Given the description of an element on the screen output the (x, y) to click on. 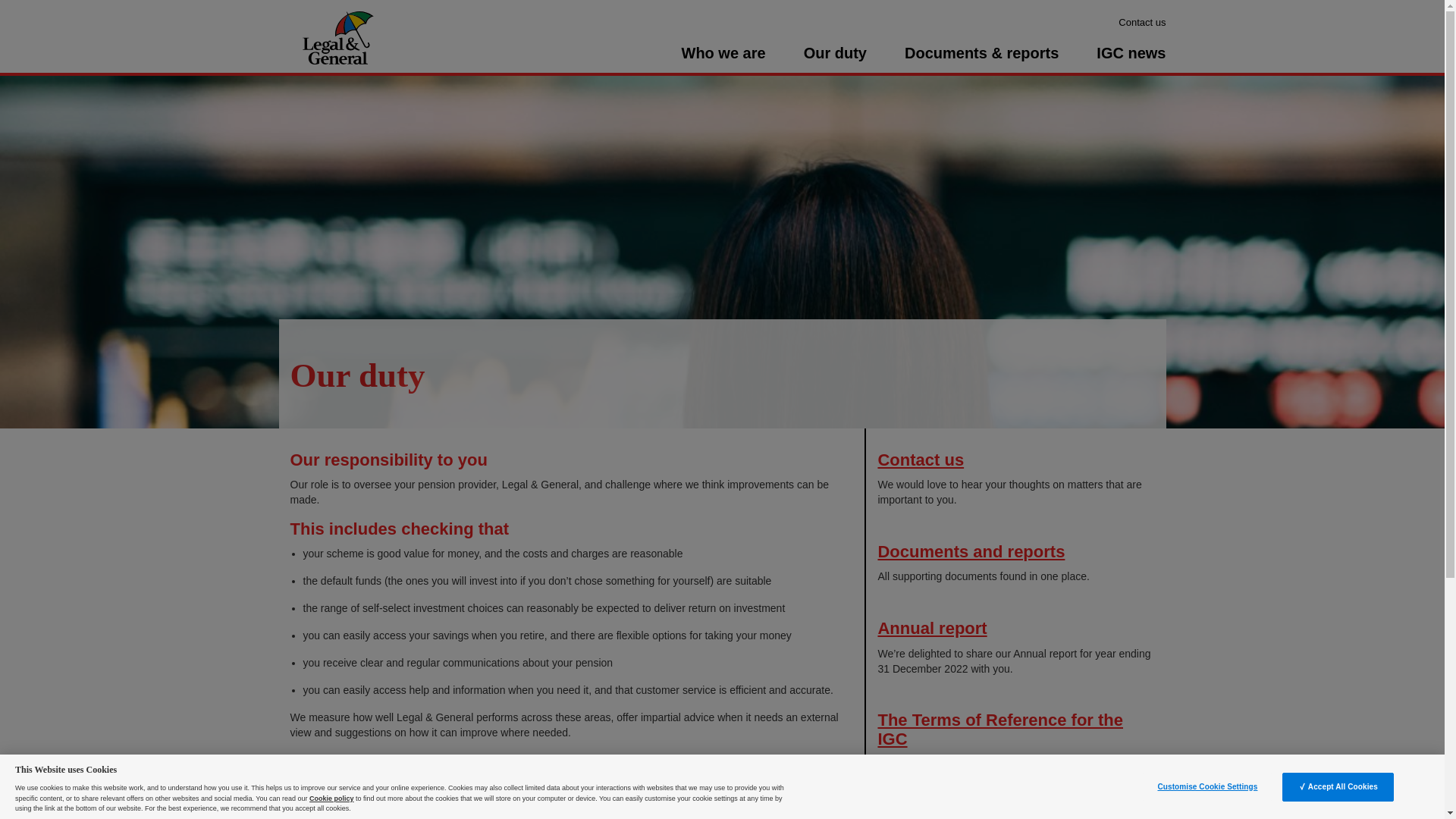
IGC news (1131, 58)
Contact us (1142, 21)
Financial Conduct Authority - opens in new window (710, 759)
Contact us - opens in new widow (920, 459)
Who we are (723, 58)
 The Terms of Reference for the IGC - opens in new window (999, 728)
look after your interests - opens in same window (452, 802)
Financial Conduct Authority (710, 759)
Our duty (834, 58)
